Given the description of an element on the screen output the (x, y) to click on. 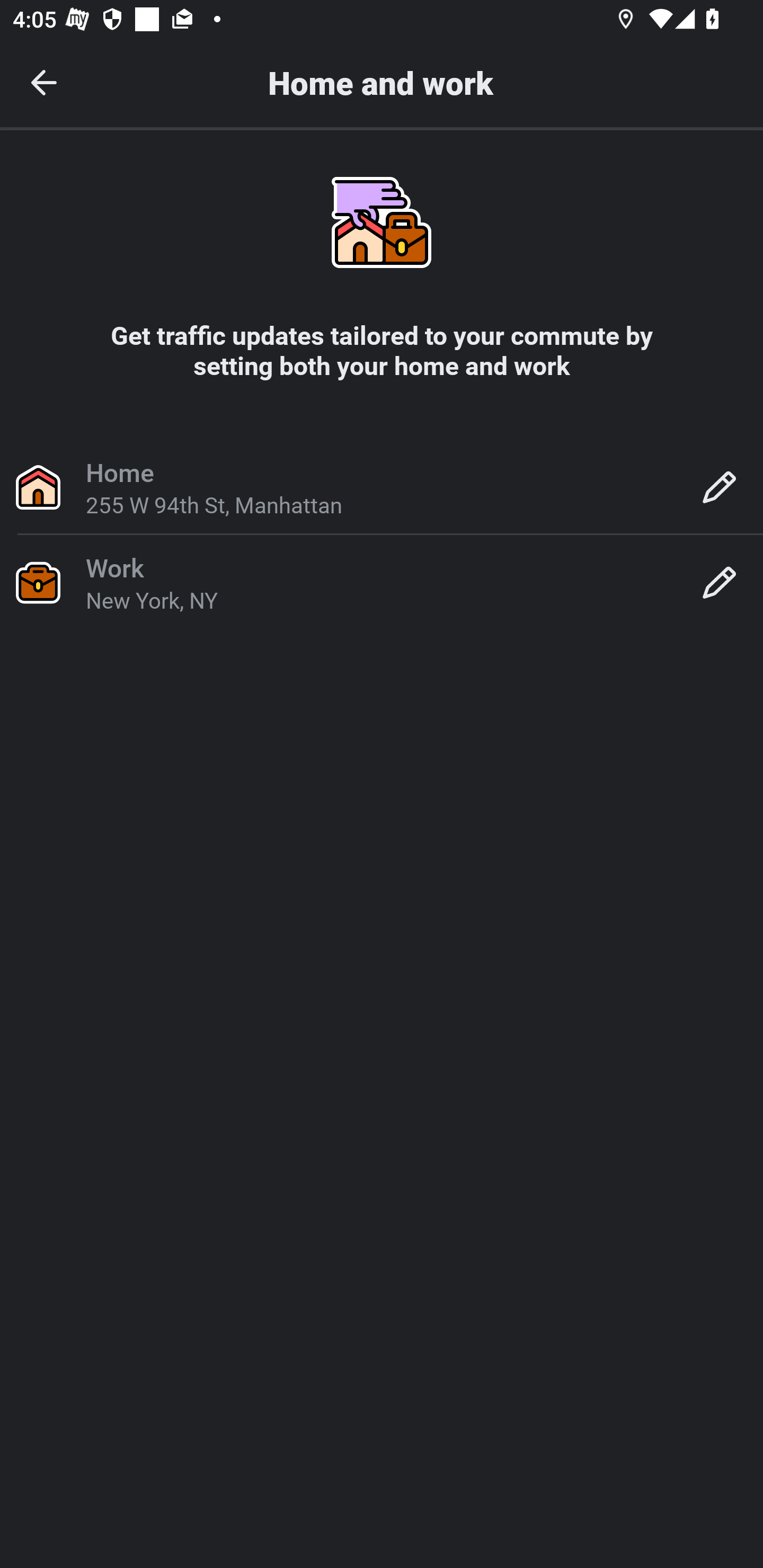
Home 255 W 94th St, Manhattan (381, 486)
Work New York, NY (381, 582)
